Given the description of an element on the screen output the (x, y) to click on. 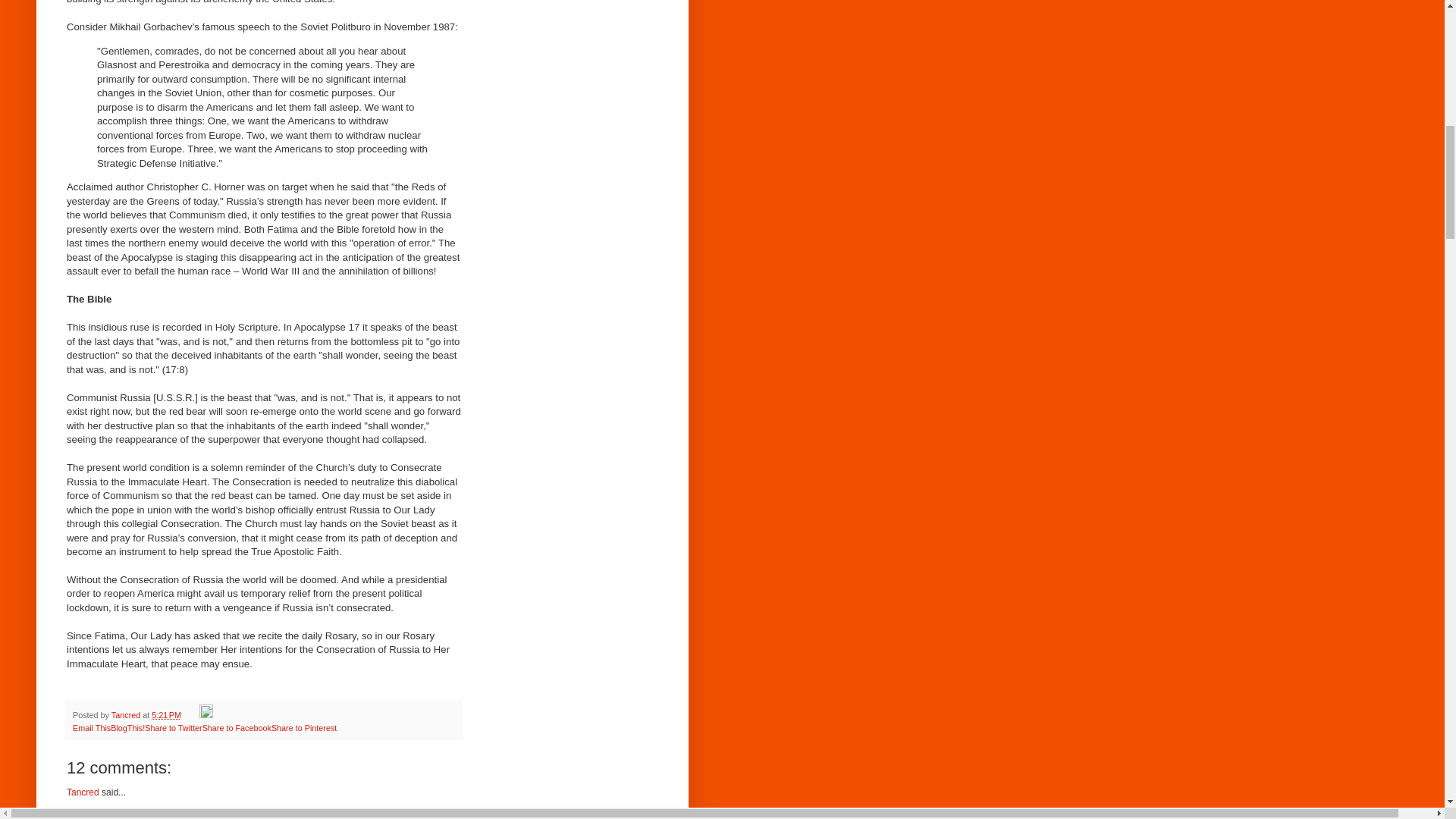
Share to Facebook (236, 727)
Edit Post (205, 714)
permanent link (165, 714)
Email This (91, 727)
Share to Pinterest (303, 727)
BlogThis! (127, 727)
Share to Twitter (173, 727)
Email This (91, 727)
Email Post (191, 714)
Share to Pinterest (303, 727)
Share to Facebook (236, 727)
Tancred (82, 792)
Tancred (127, 714)
BlogThis! (127, 727)
